Given the description of an element on the screen output the (x, y) to click on. 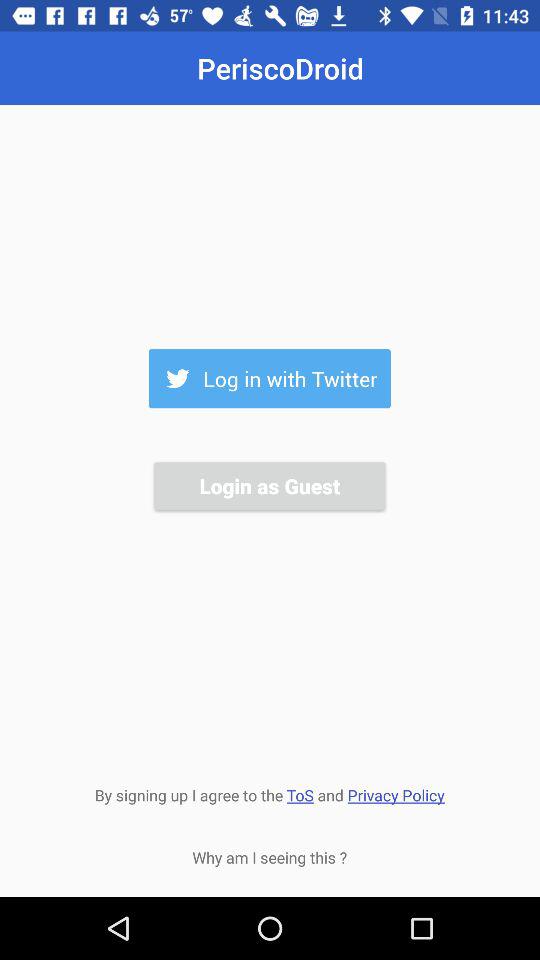
launch item above the why am i icon (269, 793)
